Given the description of an element on the screen output the (x, y) to click on. 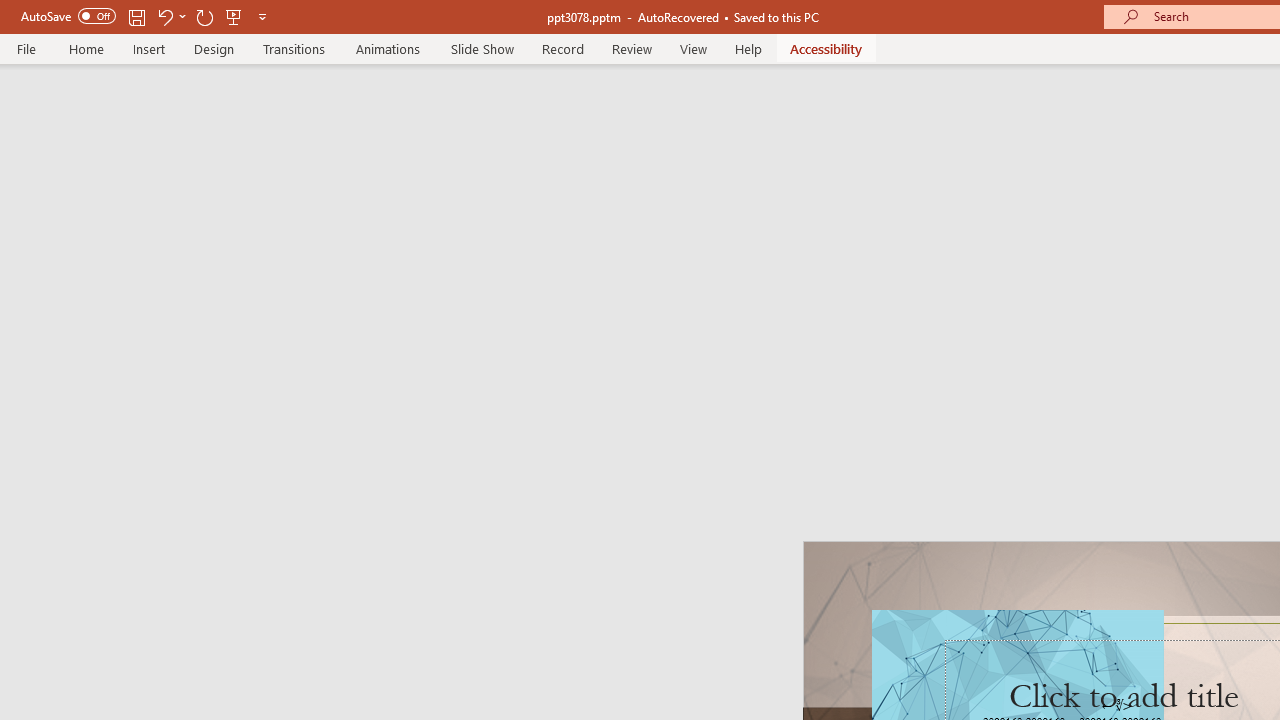
Quick Access Toolbar (145, 16)
Save (136, 15)
Animations (388, 48)
Redo (204, 15)
TextBox 7 (1117, 705)
Accessibility (825, 48)
File Tab (26, 48)
More Options (182, 15)
